Given the description of an element on the screen output the (x, y) to click on. 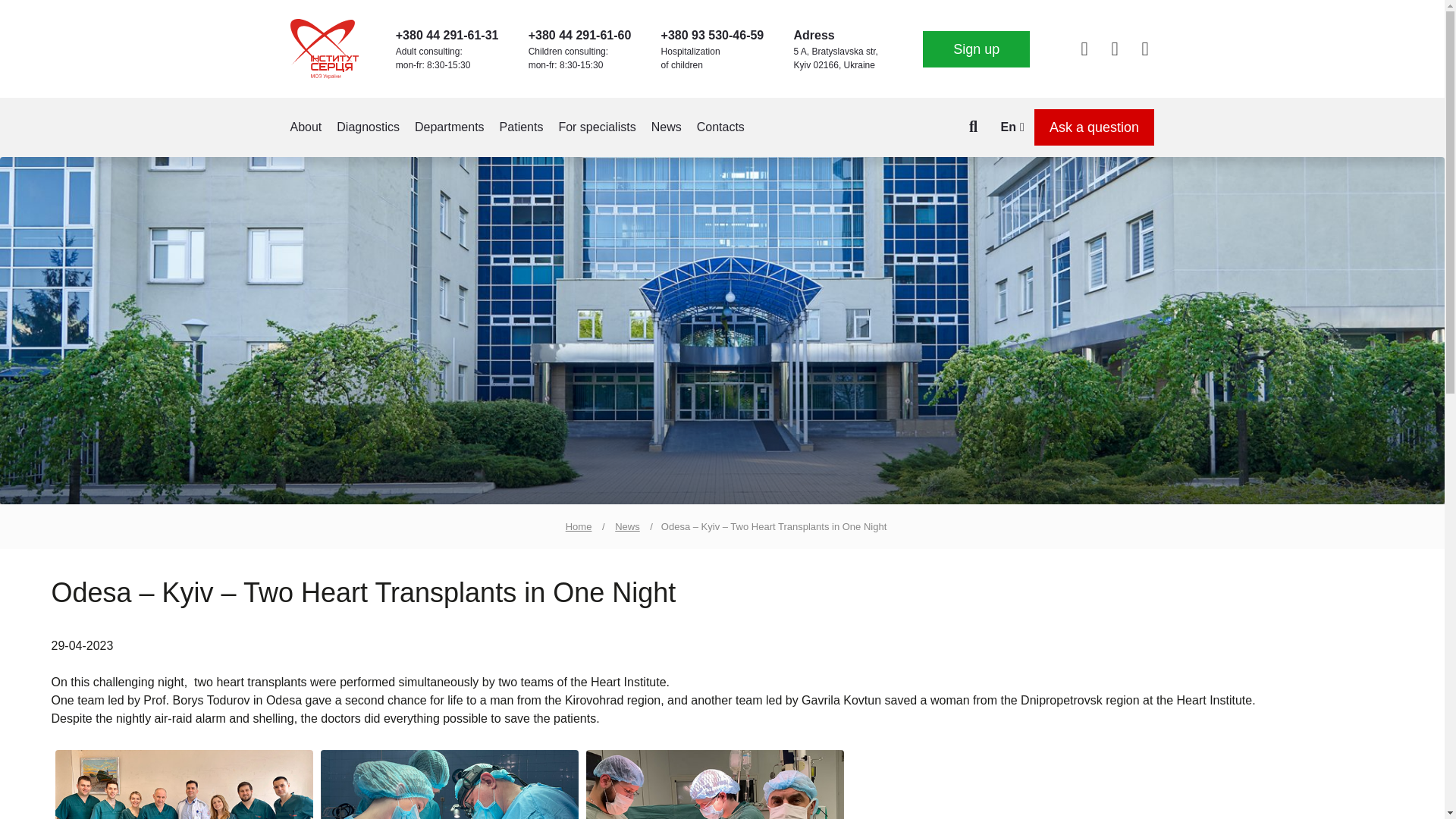
Adress (813, 34)
Departments (449, 127)
Diagnostics (367, 127)
Sign up (976, 49)
Patients (521, 127)
